Given the description of an element on the screen output the (x, y) to click on. 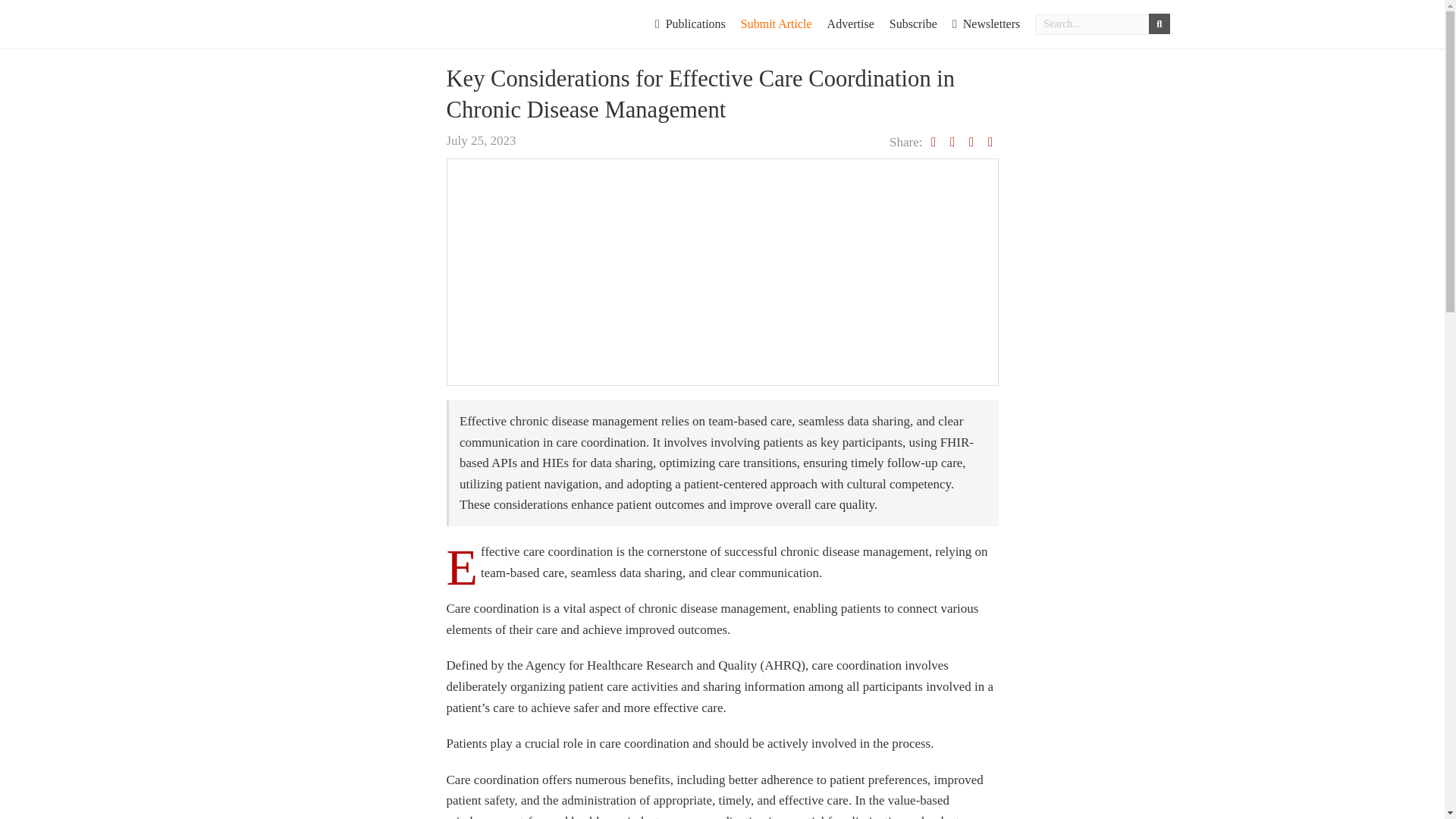
Subscribe (913, 24)
Publications (690, 24)
DistilINFO GovHealth Advisory (384, 21)
Tweet on Twitter (933, 142)
Email this to Colleagues (990, 142)
Advertise (850, 24)
Share on Linkedin (971, 142)
Share on Facebook (952, 142)
Newsletters Archive (985, 24)
Submit Article (776, 24)
Newsletters (985, 24)
